Given the description of an element on the screen output the (x, y) to click on. 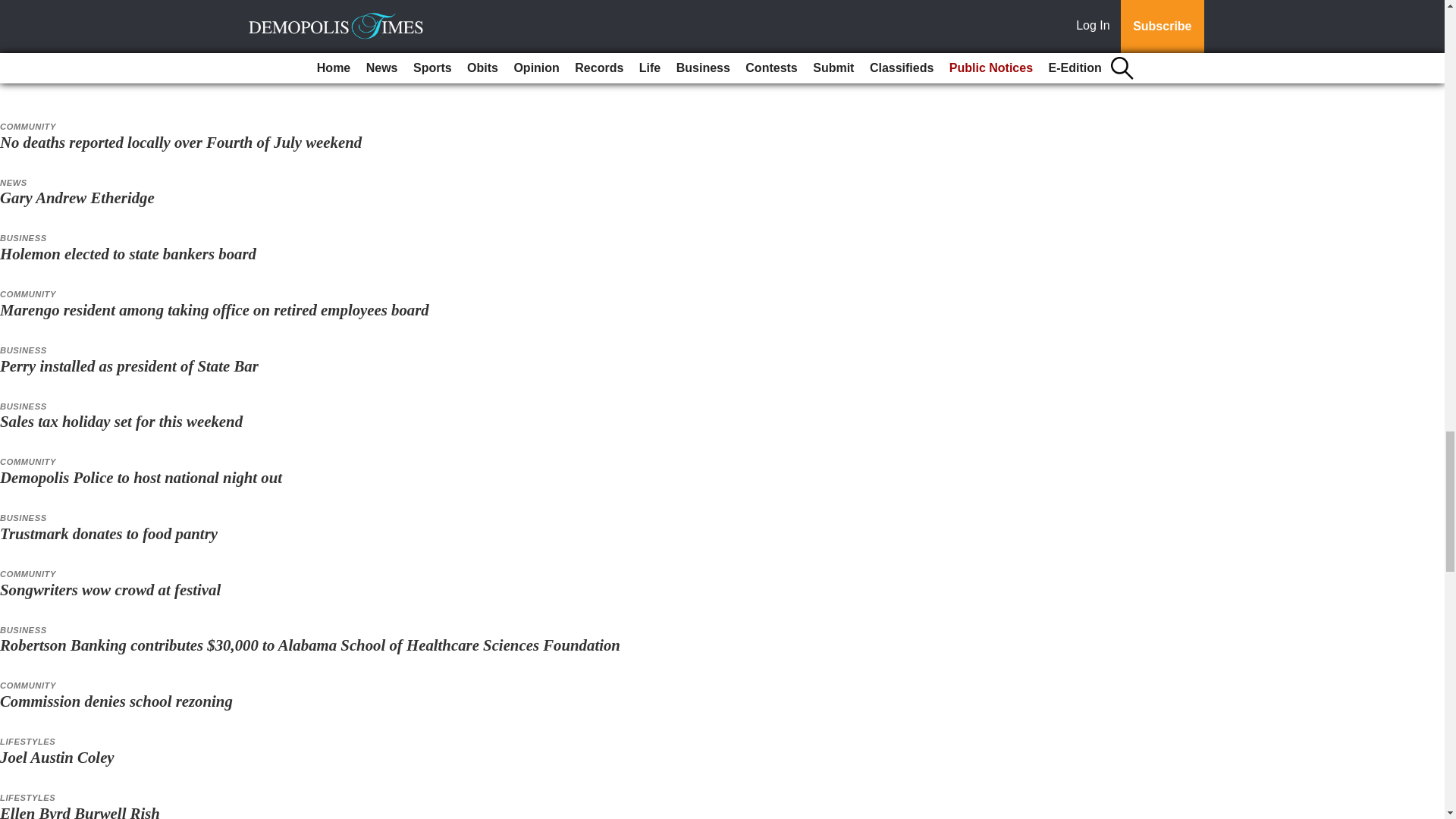
Trustmark donates to food pantry (108, 533)
Demopolis Police to host national night out (141, 477)
No deaths reported locally over Fourth of July weekend (180, 141)
Perry installed as president of State Bar (129, 365)
Demopolis Police to host national night out (141, 477)
Holemon elected to state bankers board (128, 253)
Holemon elected to state bankers board (128, 253)
Sales tax holiday set for this weekend (121, 420)
Commission denies school rezoning (116, 701)
Sales tax holiday set for this weekend (121, 420)
Perry installed as president of State Bar (129, 365)
No deaths reported locally over Fourth of July weekend (180, 141)
Gary Andrew Etheridge  (79, 197)
